Given the description of an element on the screen output the (x, y) to click on. 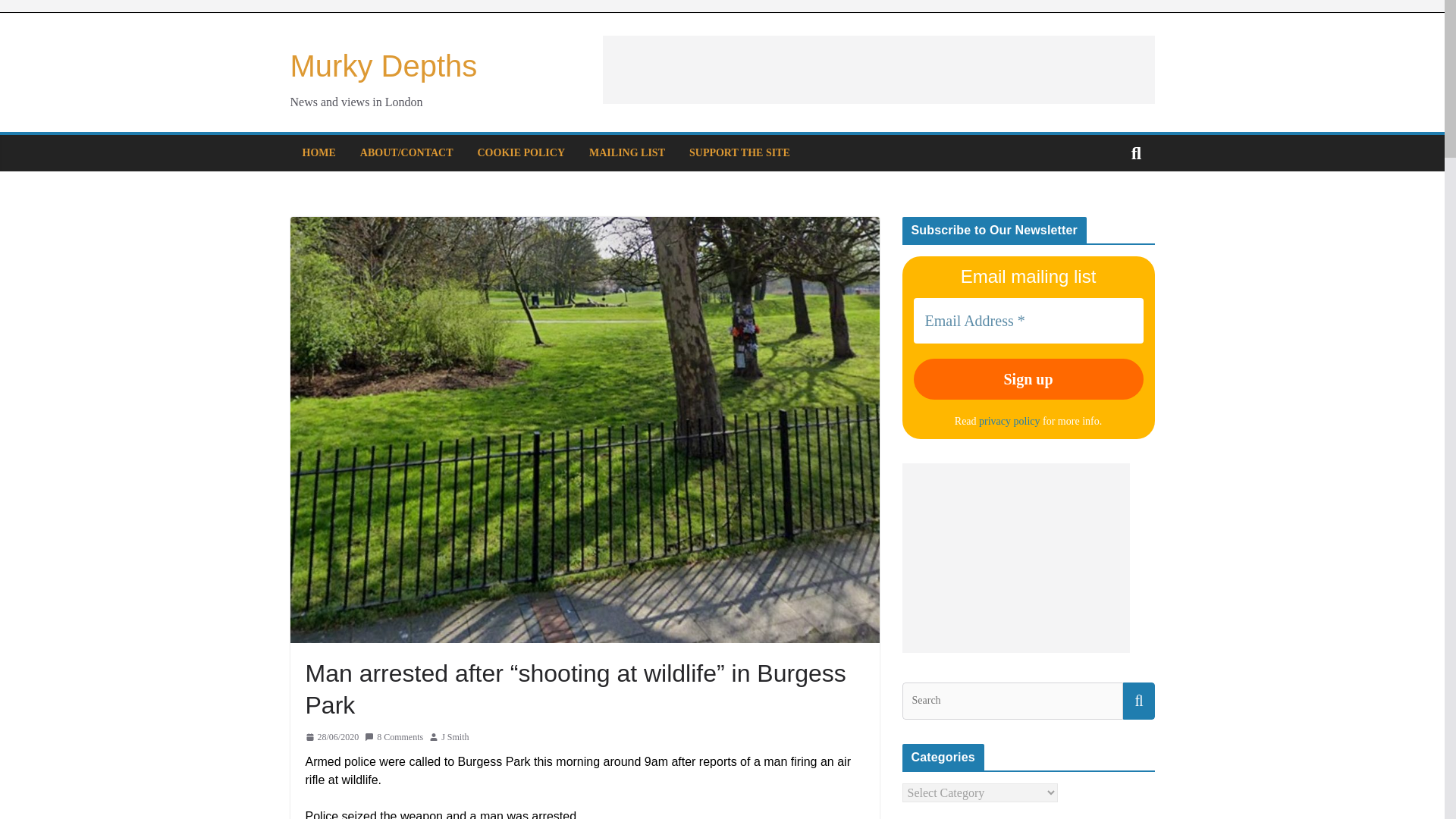
HOME (317, 152)
MAILING LIST (627, 152)
Murky Depths (383, 65)
COOKIE POLICY (521, 152)
10:40 (331, 736)
Sign up (1027, 378)
J Smith (454, 736)
SUPPORT THE SITE (739, 152)
8 Comments (394, 736)
J Smith (454, 736)
